Given the description of an element on the screen output the (x, y) to click on. 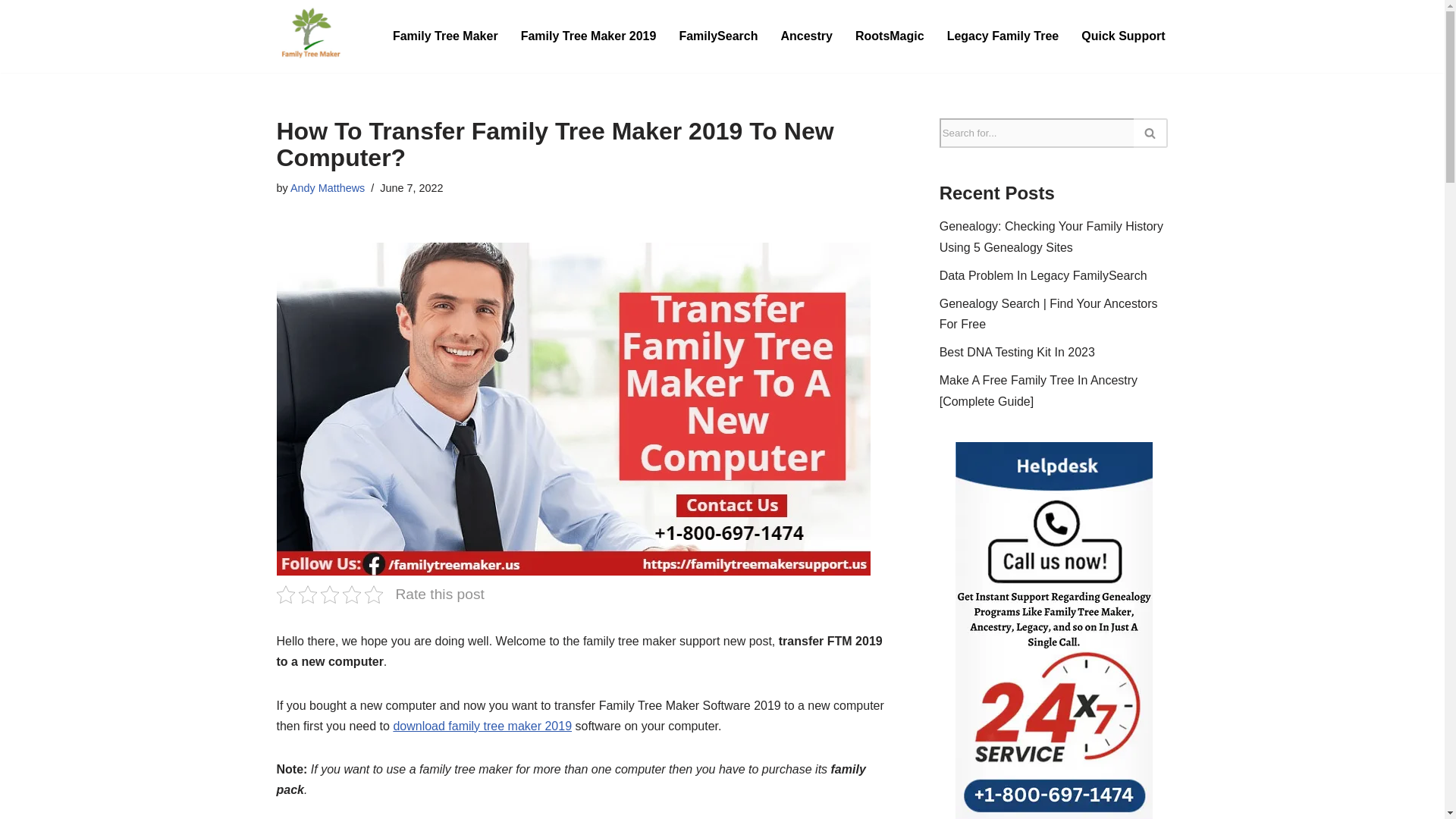
Ancestry (805, 35)
FamilySearch (717, 35)
RootsMagic (890, 35)
Posts by Andy Matthews (327, 187)
Quick Support (1122, 35)
Family Tree Maker 2019 (588, 35)
Legacy Family Tree (1003, 35)
download family tree maker 2019 (482, 725)
Andy Matthews (327, 187)
Skip to content (11, 31)
Family Tree Maker (445, 35)
